Given the description of an element on the screen output the (x, y) to click on. 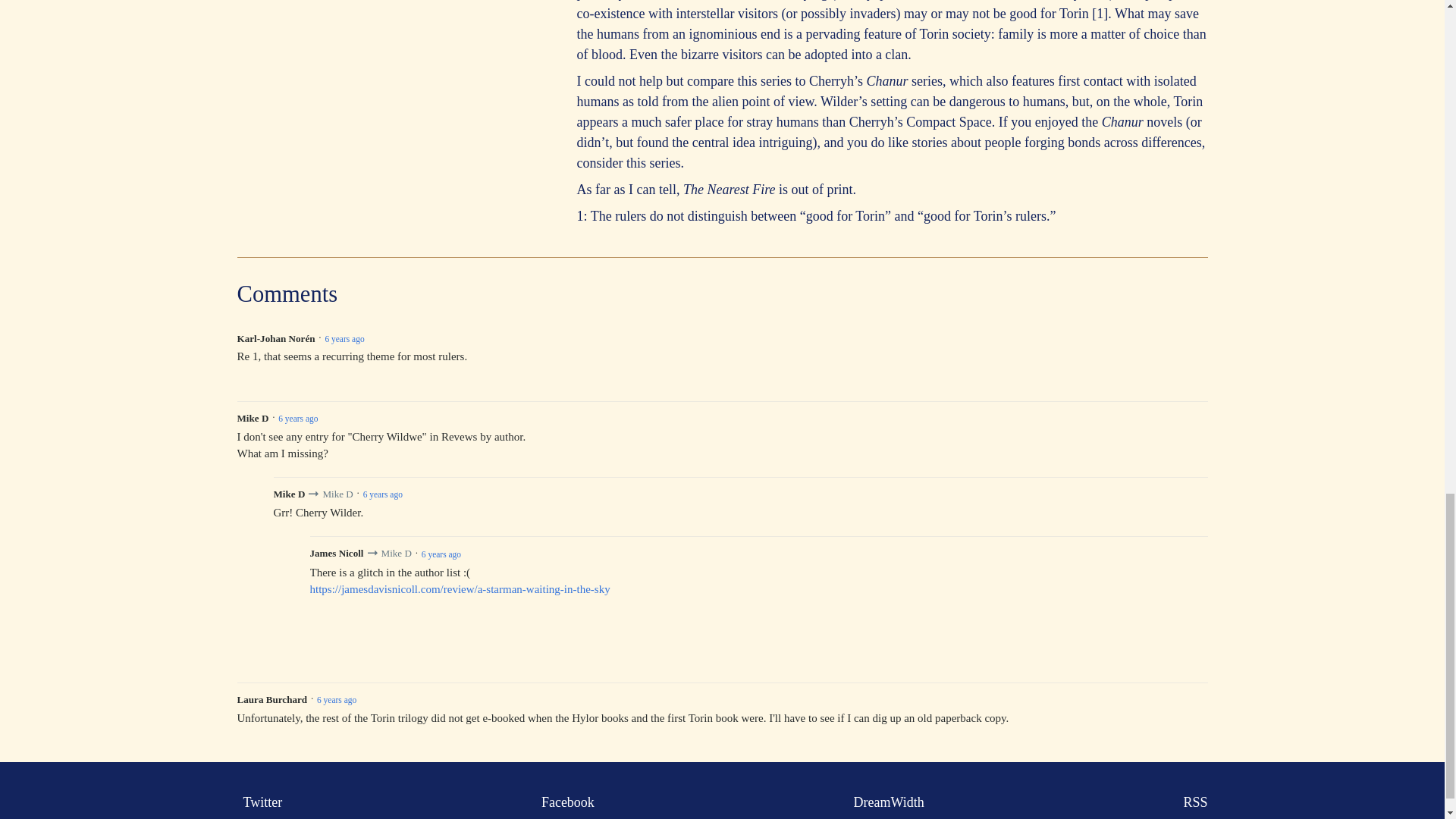
Mike D (336, 493)
Facebook (564, 801)
6 years ago (441, 554)
6 years ago (382, 494)
Mike D (395, 552)
6 years ago (336, 699)
RSS (1191, 801)
DreamWidth (885, 801)
6 years ago (344, 338)
6 years ago (297, 418)
